Given the description of an element on the screen output the (x, y) to click on. 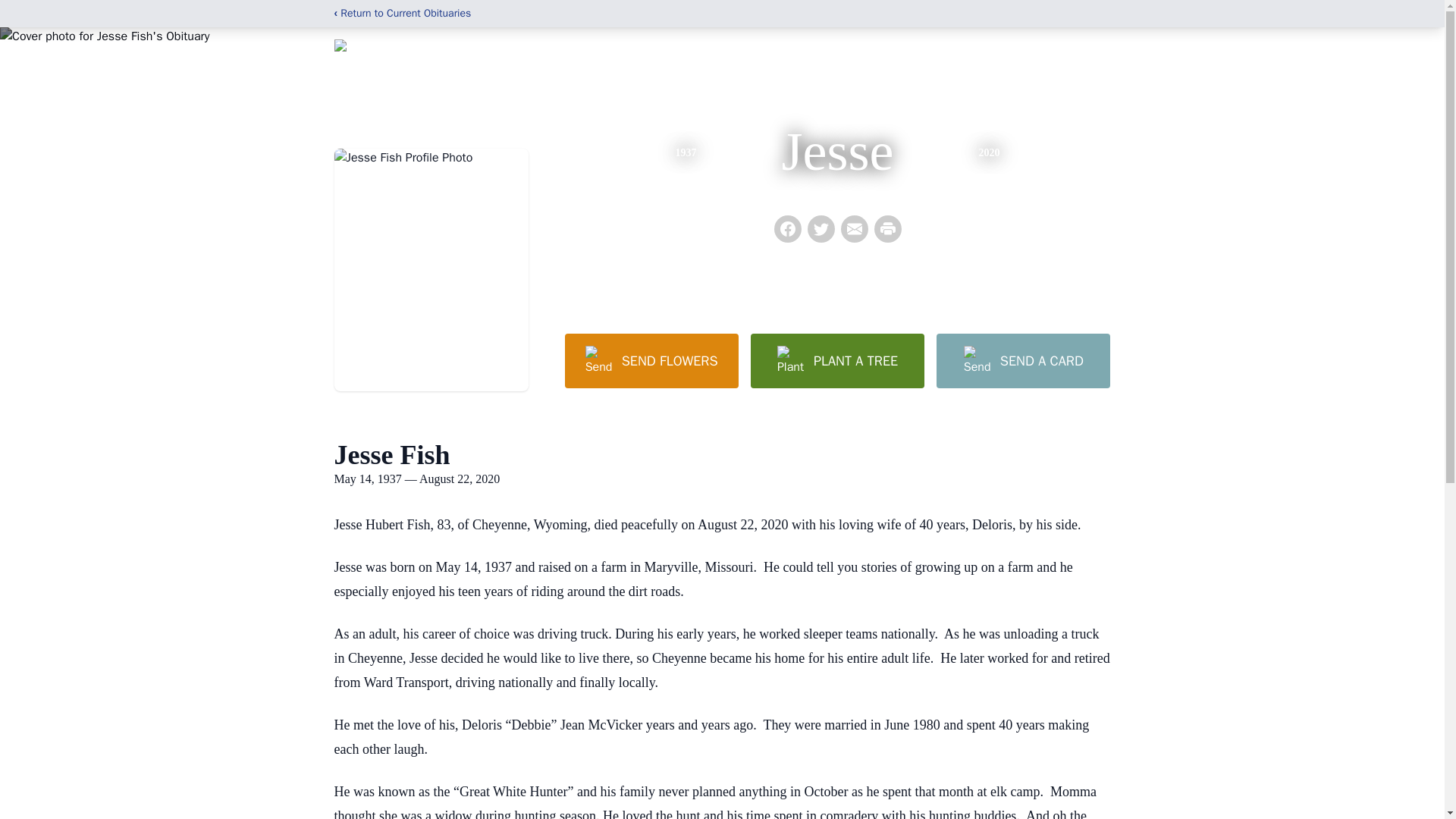
SEND FLOWERS (651, 360)
SEND A CARD (1022, 360)
PLANT A TREE (837, 360)
